Given the description of an element on the screen output the (x, y) to click on. 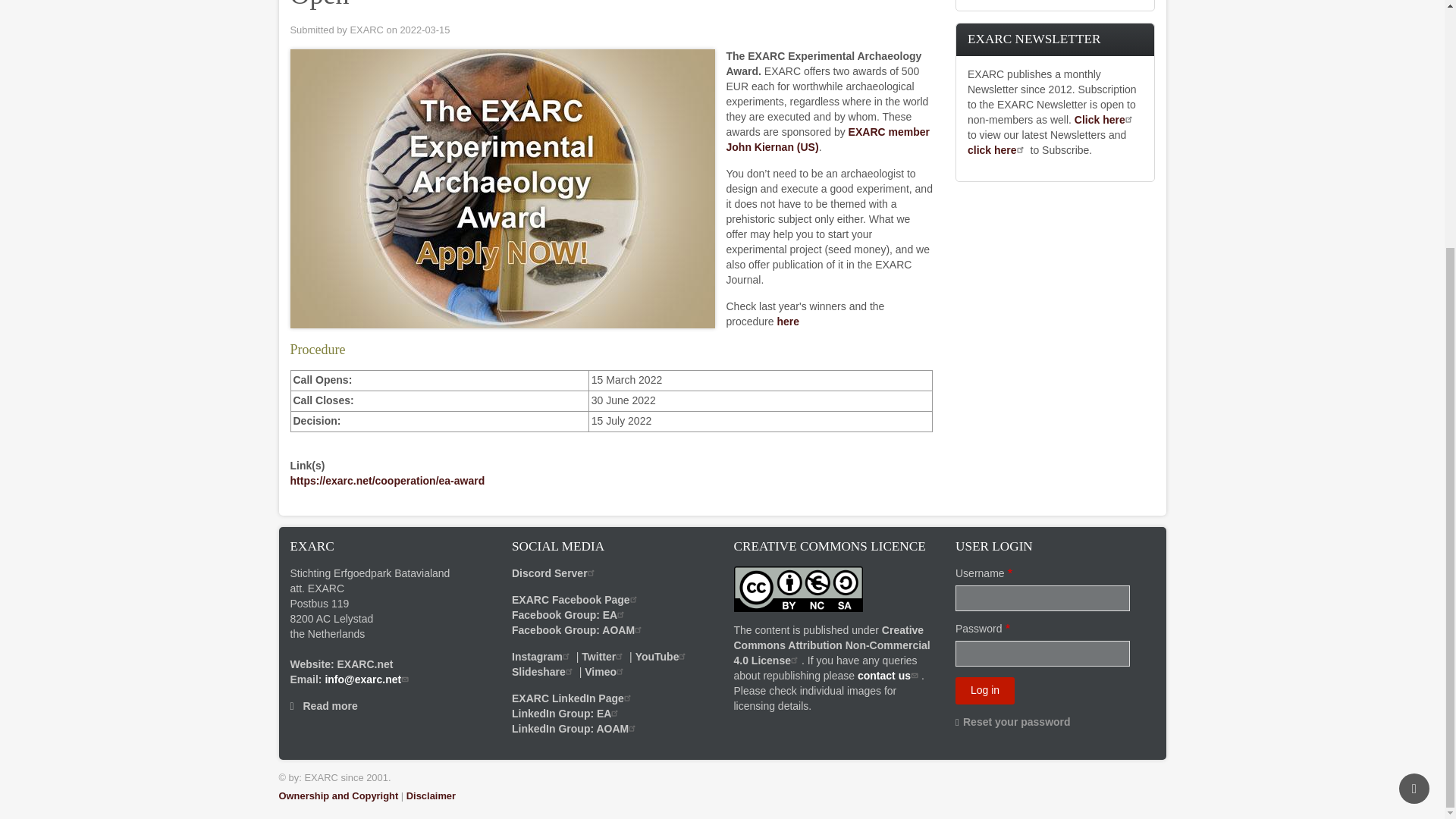
Back to Top (1414, 441)
Log in (984, 690)
Tuesday, March 15, 2022 (423, 30)
Send password reset instructions via email. (1016, 721)
The EXARC Experimental Archaeology Award 2022 Open (501, 188)
